Given the description of an element on the screen output the (x, y) to click on. 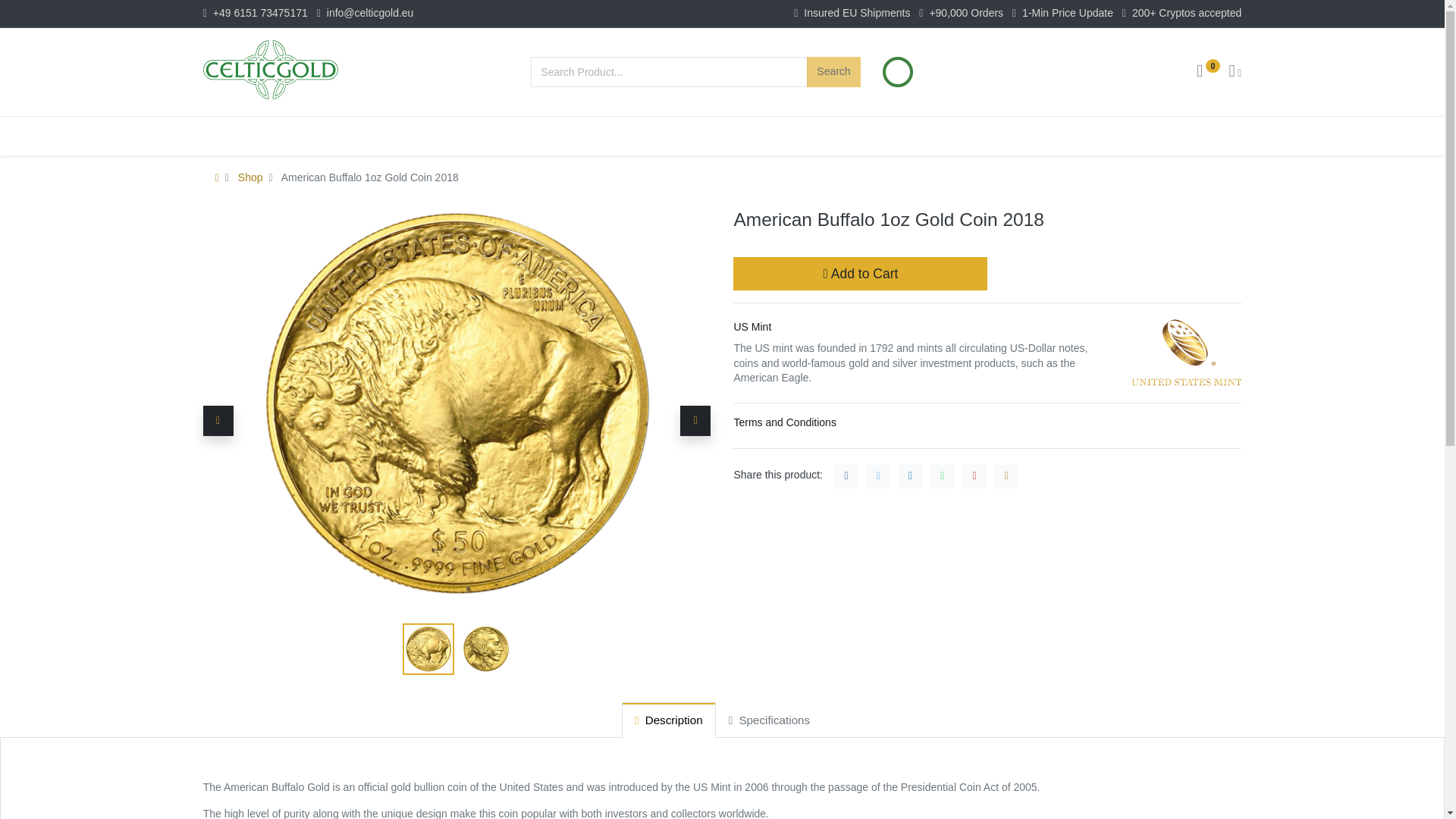
Search (833, 71)
Automatic Price-Update (898, 72)
CelticGold.eu (270, 69)
0 (1208, 72)
